Given the description of an element on the screen output the (x, y) to click on. 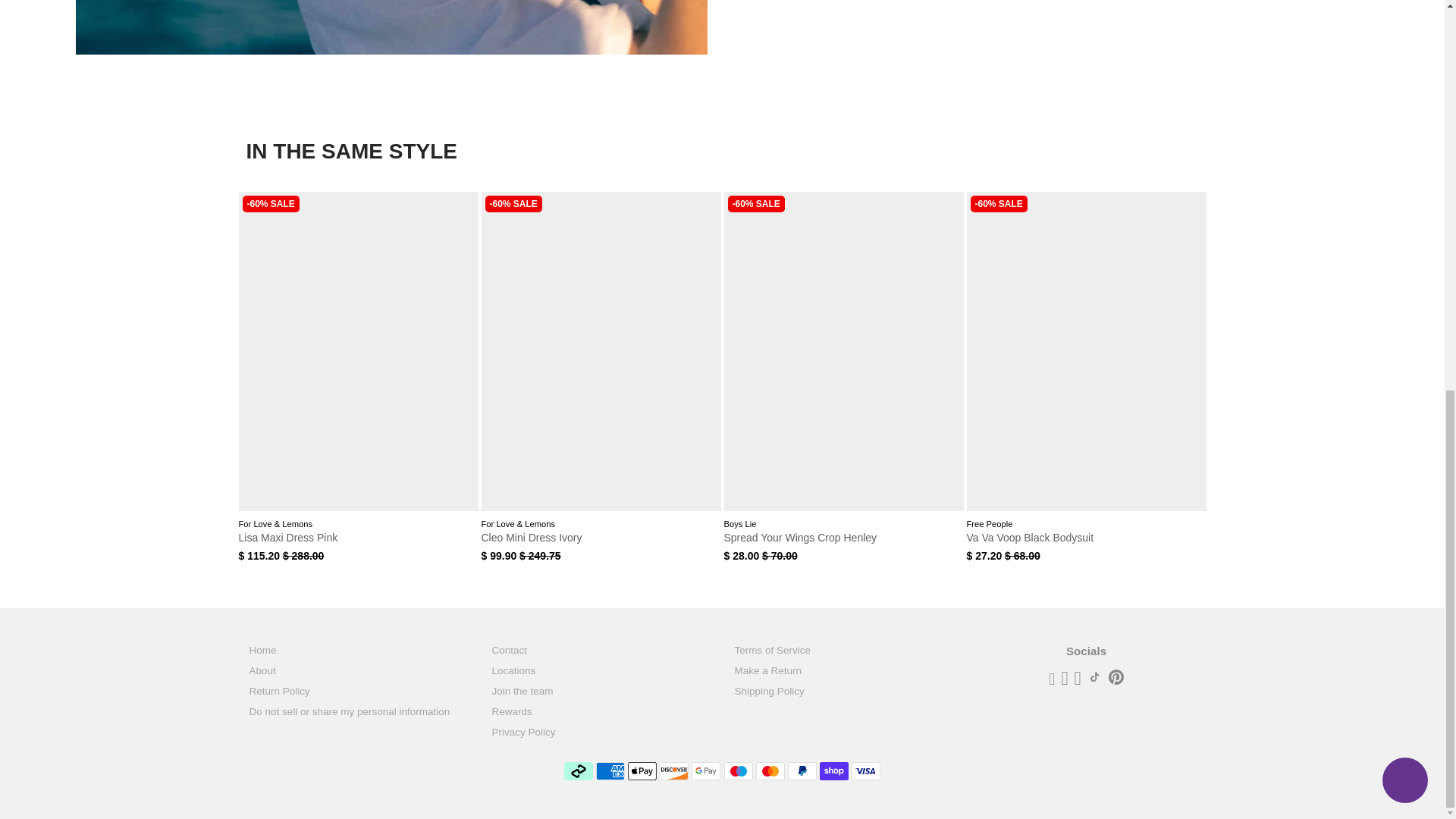
Mastercard (769, 771)
Maestro (737, 771)
Google Pay (705, 771)
PayPal (801, 771)
Visa (865, 771)
Discover (673, 771)
American Express (609, 771)
Shopify online store chat (1404, 37)
Shop Pay (833, 771)
Apple Pay (641, 771)
